Given the description of an element on the screen output the (x, y) to click on. 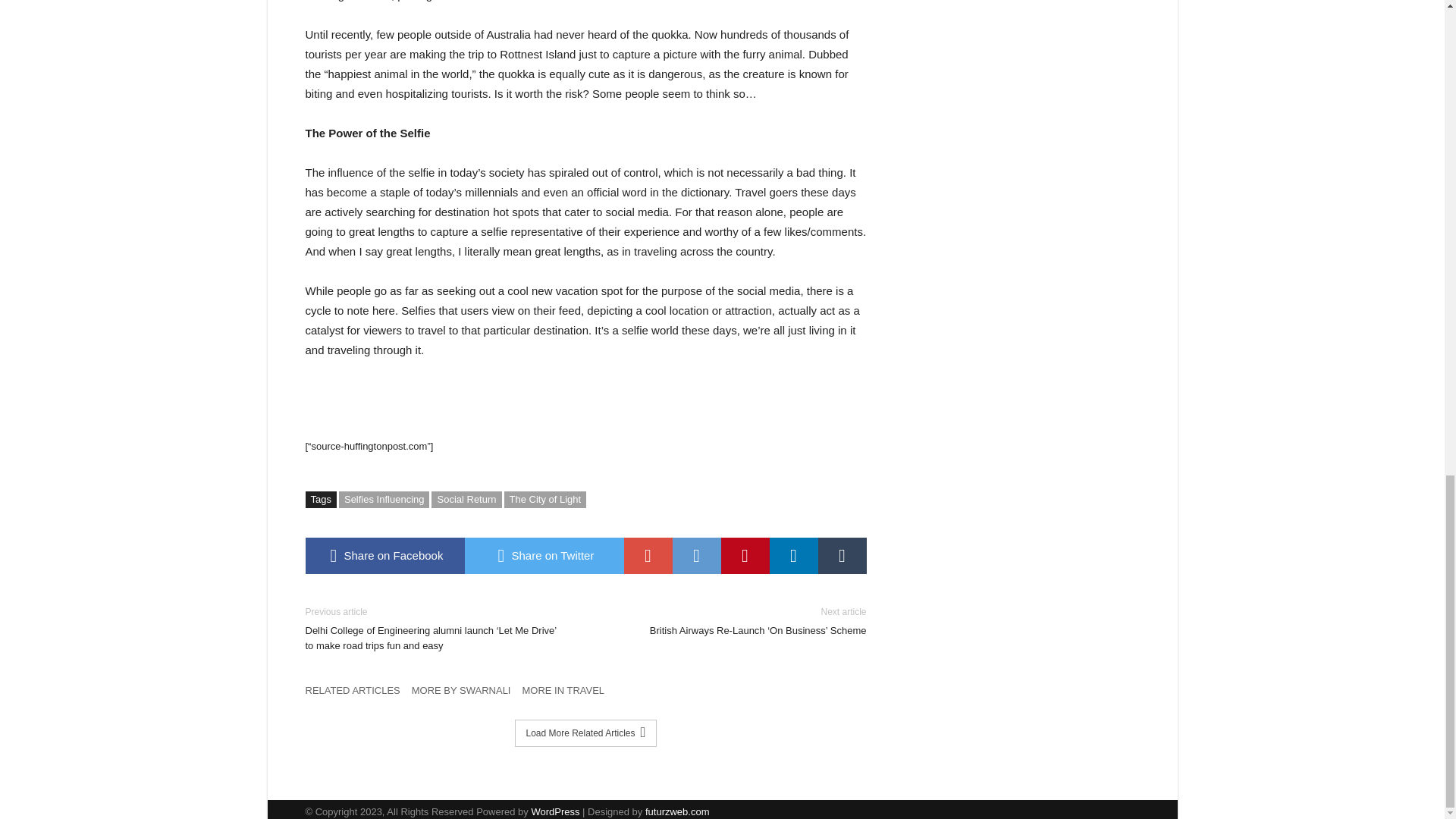
google (647, 555)
Share on Tumblr (841, 555)
Share on Facebook (384, 555)
pinterest (744, 555)
Share on Twitter (543, 555)
Selfies Influencing (384, 499)
The City of Light (544, 499)
facebook (384, 555)
Share on Reddit (695, 555)
Social Return (465, 499)
